Given the description of an element on the screen output the (x, y) to click on. 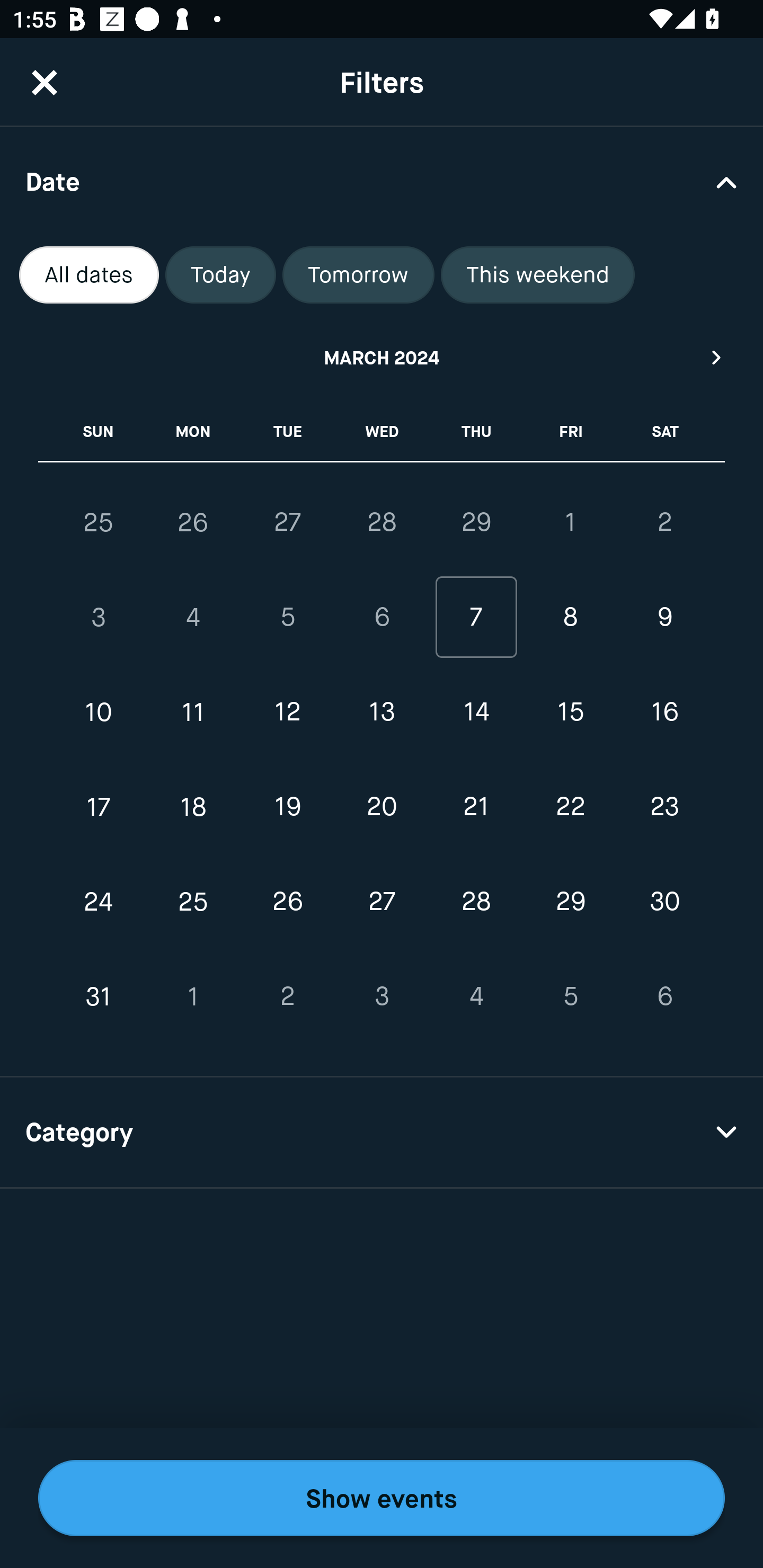
CloseButton (44, 82)
Date Drop Down Arrow (381, 181)
All dates (88, 274)
Today (220, 274)
Tomorrow (358, 274)
This weekend (537, 274)
Next (717, 357)
25 (98, 522)
26 (192, 522)
27 (287, 522)
28 (381, 522)
29 (475, 522)
1 (570, 522)
2 (664, 522)
3 (98, 617)
4 (192, 617)
5 (287, 617)
6 (381, 617)
7 (475, 617)
8 (570, 617)
9 (664, 617)
10 (98, 711)
11 (192, 711)
12 (287, 711)
13 (381, 711)
14 (475, 711)
15 (570, 711)
16 (664, 711)
17 (98, 806)
18 (192, 806)
19 (287, 806)
20 (381, 806)
21 (475, 806)
22 (570, 806)
23 (664, 806)
24 (98, 901)
25 (192, 901)
26 (287, 901)
27 (381, 901)
28 (475, 901)
29 (570, 901)
30 (664, 901)
31 (98, 996)
1 (192, 996)
2 (287, 996)
3 (381, 996)
4 (475, 996)
5 (570, 996)
6 (664, 996)
Category Drop Down Arrow (381, 1132)
Show events (381, 1497)
